Given the description of an element on the screen output the (x, y) to click on. 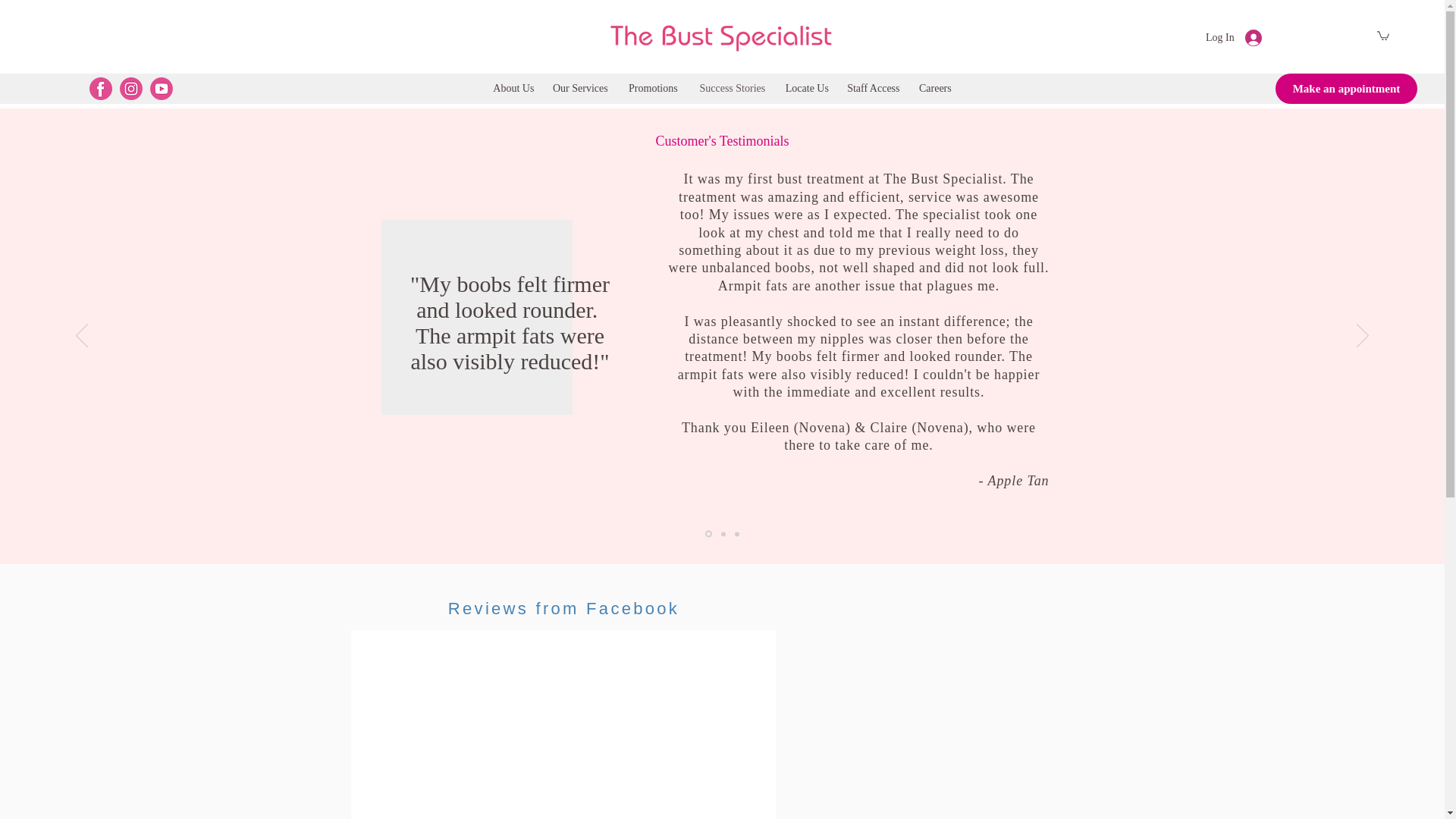
Success Stories (732, 87)
Promotions (652, 87)
About Us (513, 87)
Our Services (580, 87)
Careers (934, 87)
Make an appointment (1345, 88)
Staff Access (873, 87)
Locate Us (807, 87)
Log In (1233, 37)
